Given the description of an element on the screen output the (x, y) to click on. 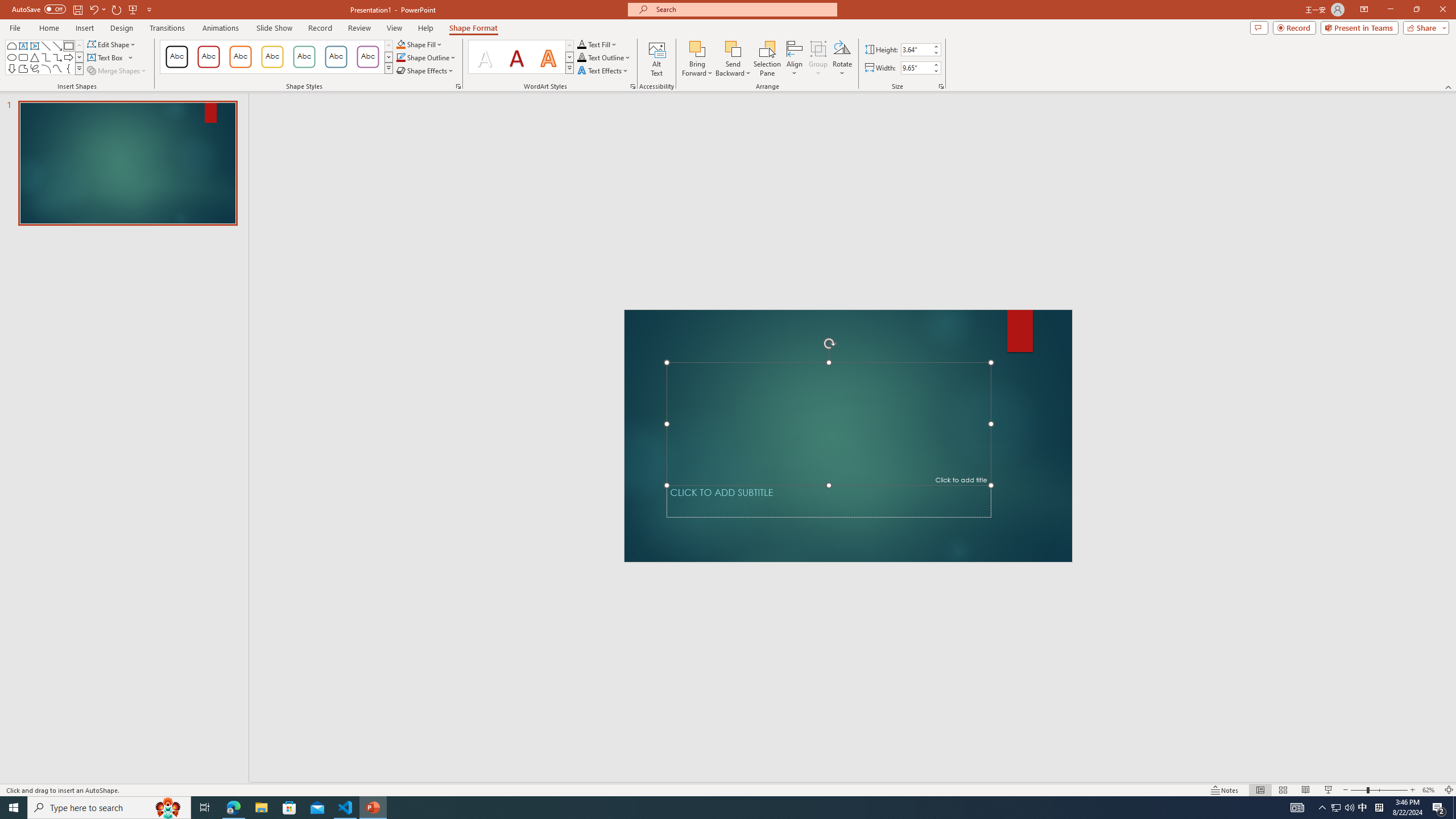
Format Text Effects... (632, 85)
Rectangle: Top Corners Snipped (11, 45)
Rotate (841, 58)
Text Fill (596, 44)
